Given the description of an element on the screen output the (x, y) to click on. 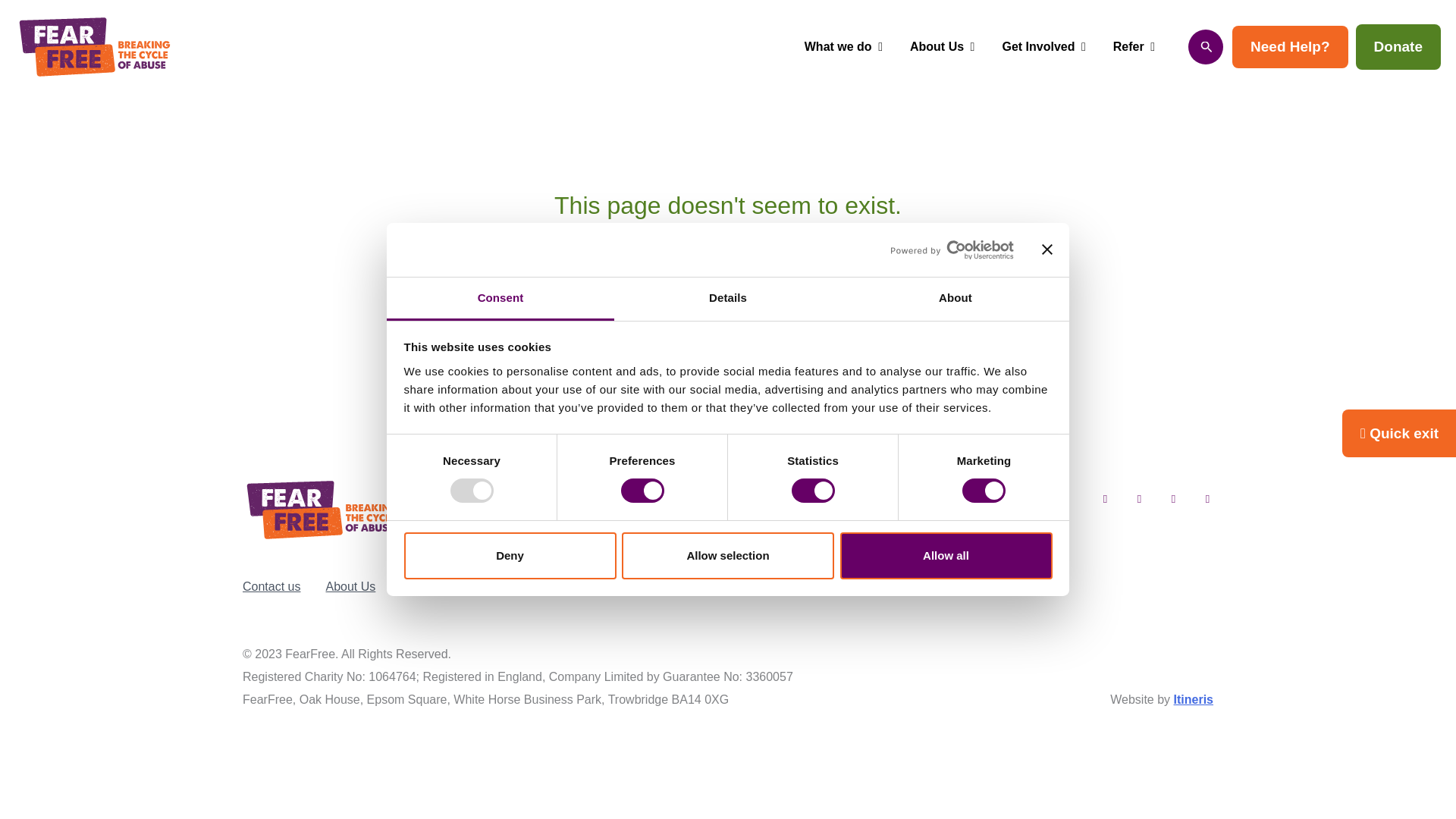
Details (727, 299)
Allow selection (727, 555)
Logo Fear Free (322, 510)
Deny (509, 555)
About (954, 299)
Consent (500, 299)
